Given the description of an element on the screen output the (x, y) to click on. 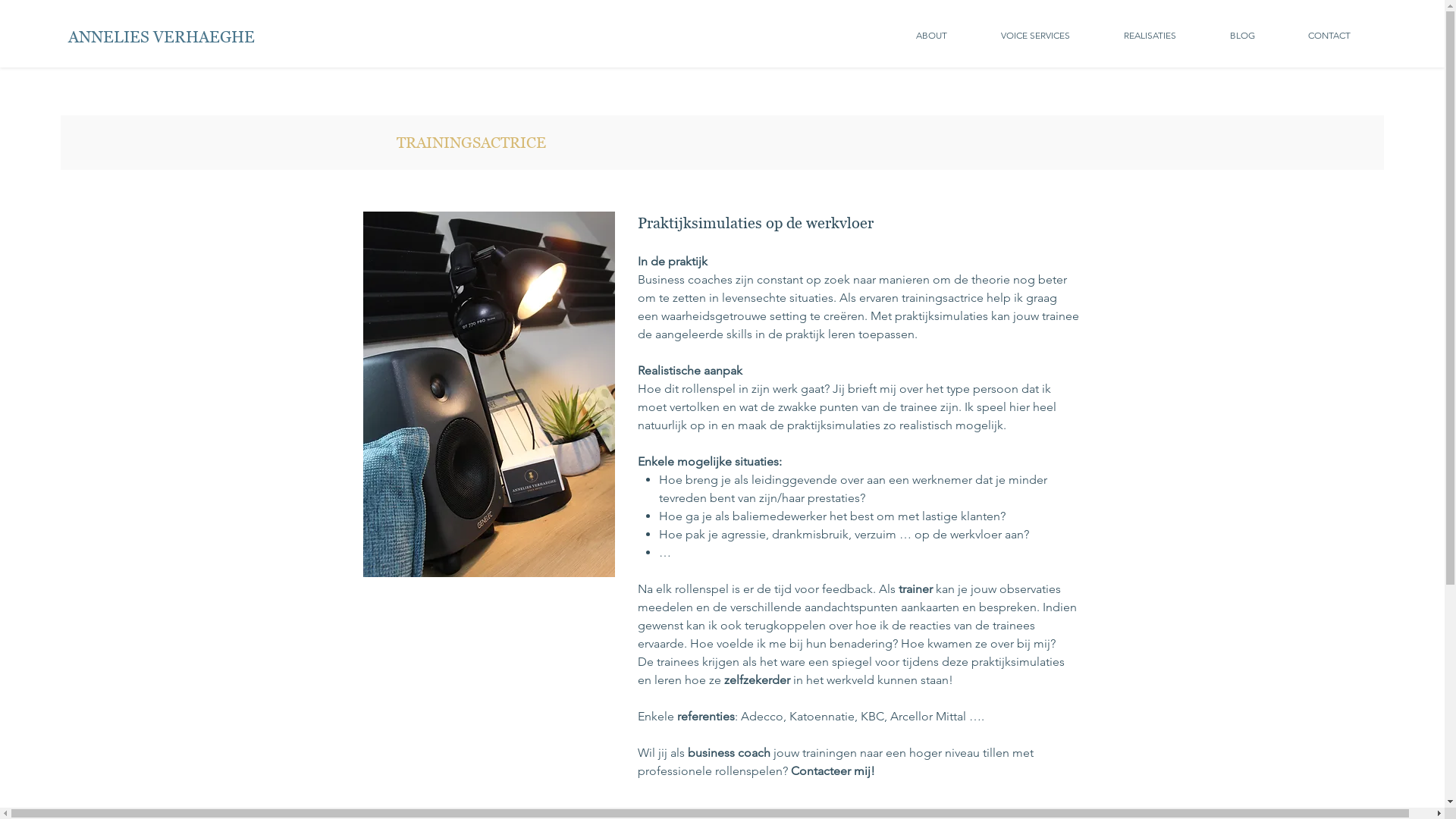
REALISATIES Element type: text (1149, 35)
mij! Element type: text (862, 770)
CONTACT Element type: text (1329, 35)
ABOUT Element type: text (930, 35)
Contacteer Element type: text (820, 770)
BLOG Element type: text (1241, 35)
ANNELIES VERHAEGHE  Element type: text (163, 36)
